Given the description of an element on the screen output the (x, y) to click on. 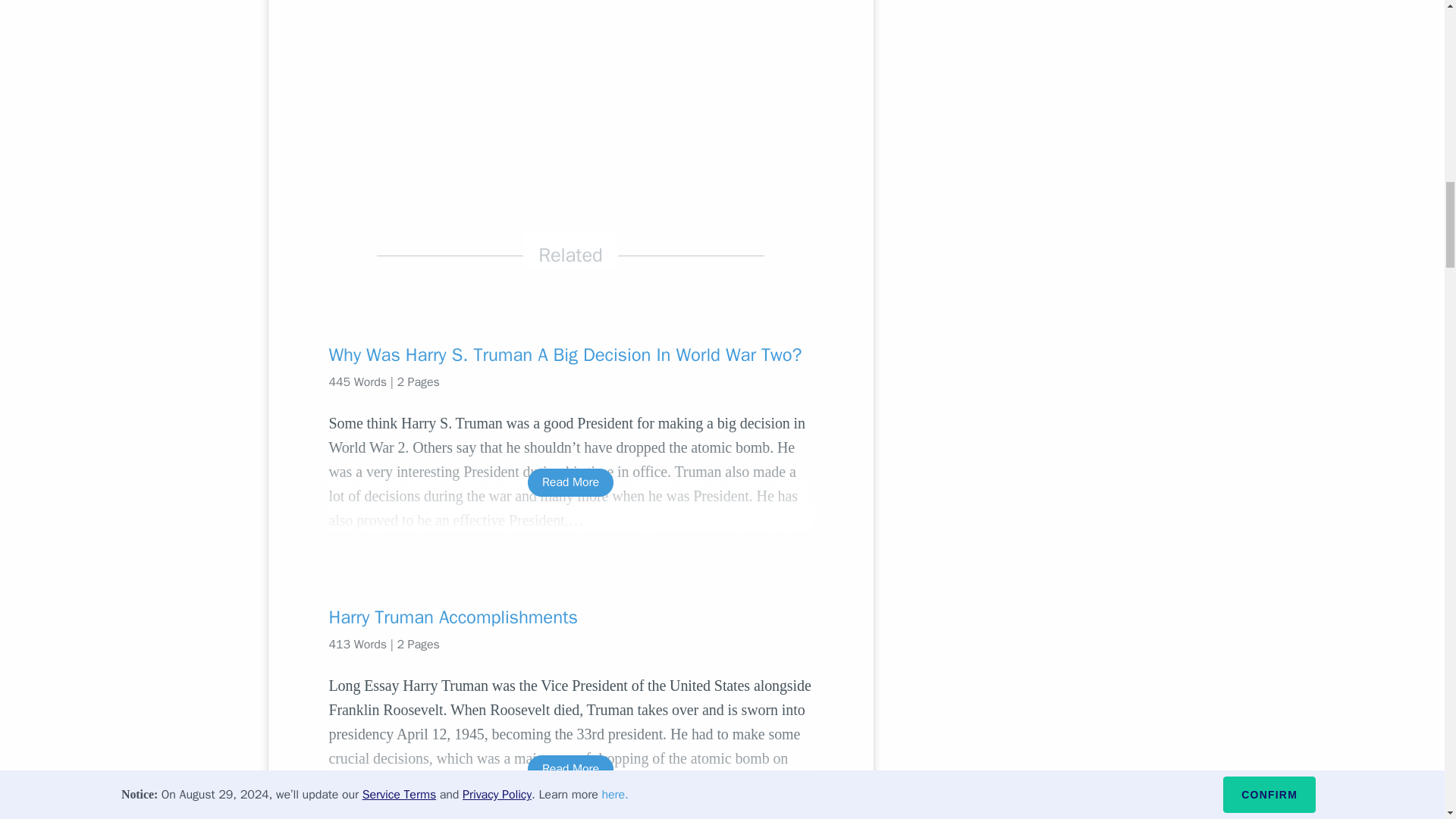
Harry Truman Accomplishments (570, 617)
Read More (569, 768)
Read More (569, 482)
Why Was Harry S. Truman A Big Decision In World War Two? (570, 354)
